Given the description of an element on the screen output the (x, y) to click on. 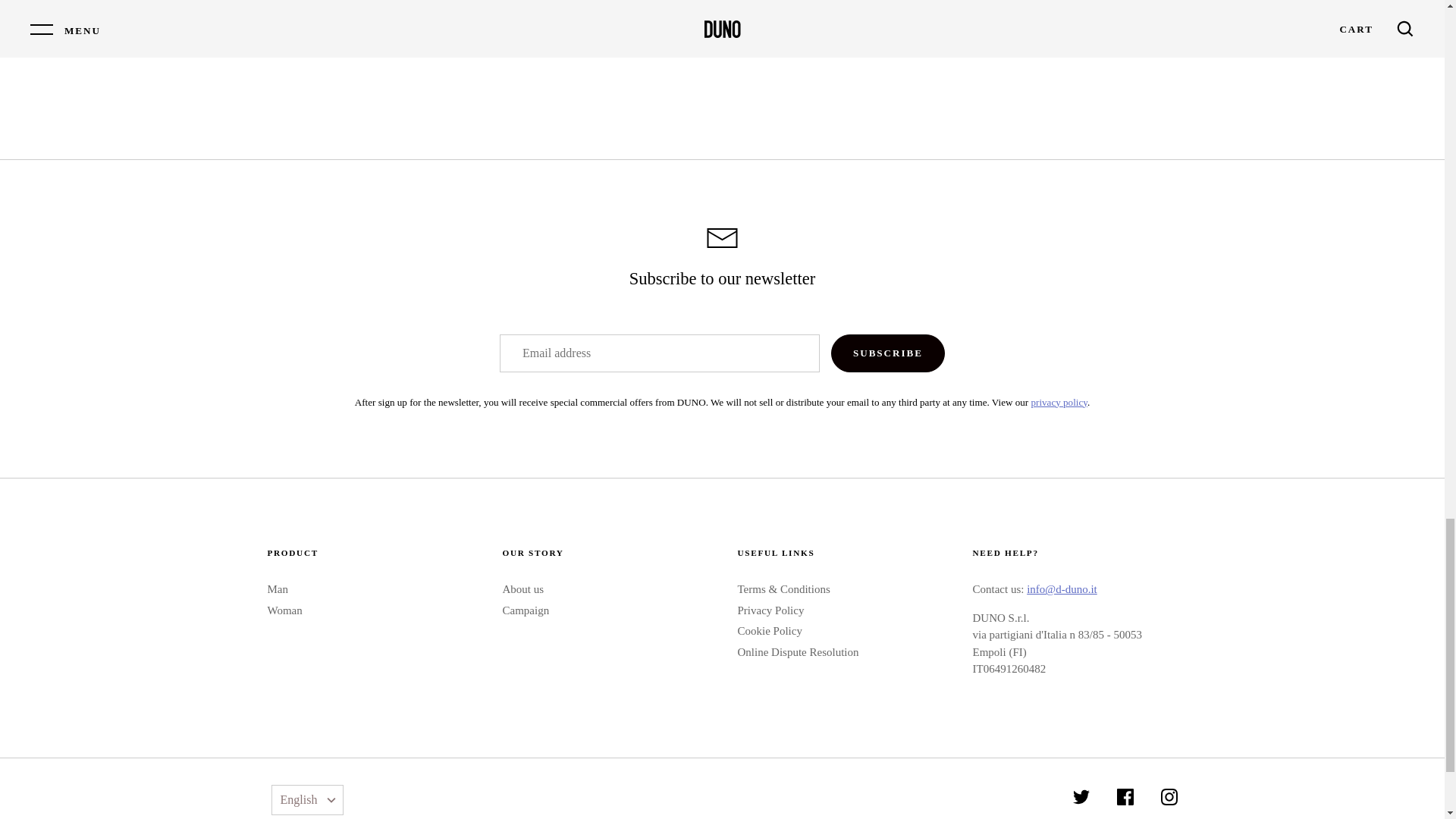
Down (331, 800)
Twitter (1081, 796)
Instagram (1168, 796)
Email (722, 238)
Facebook (1125, 796)
